Given the description of an element on the screen output the (x, y) to click on. 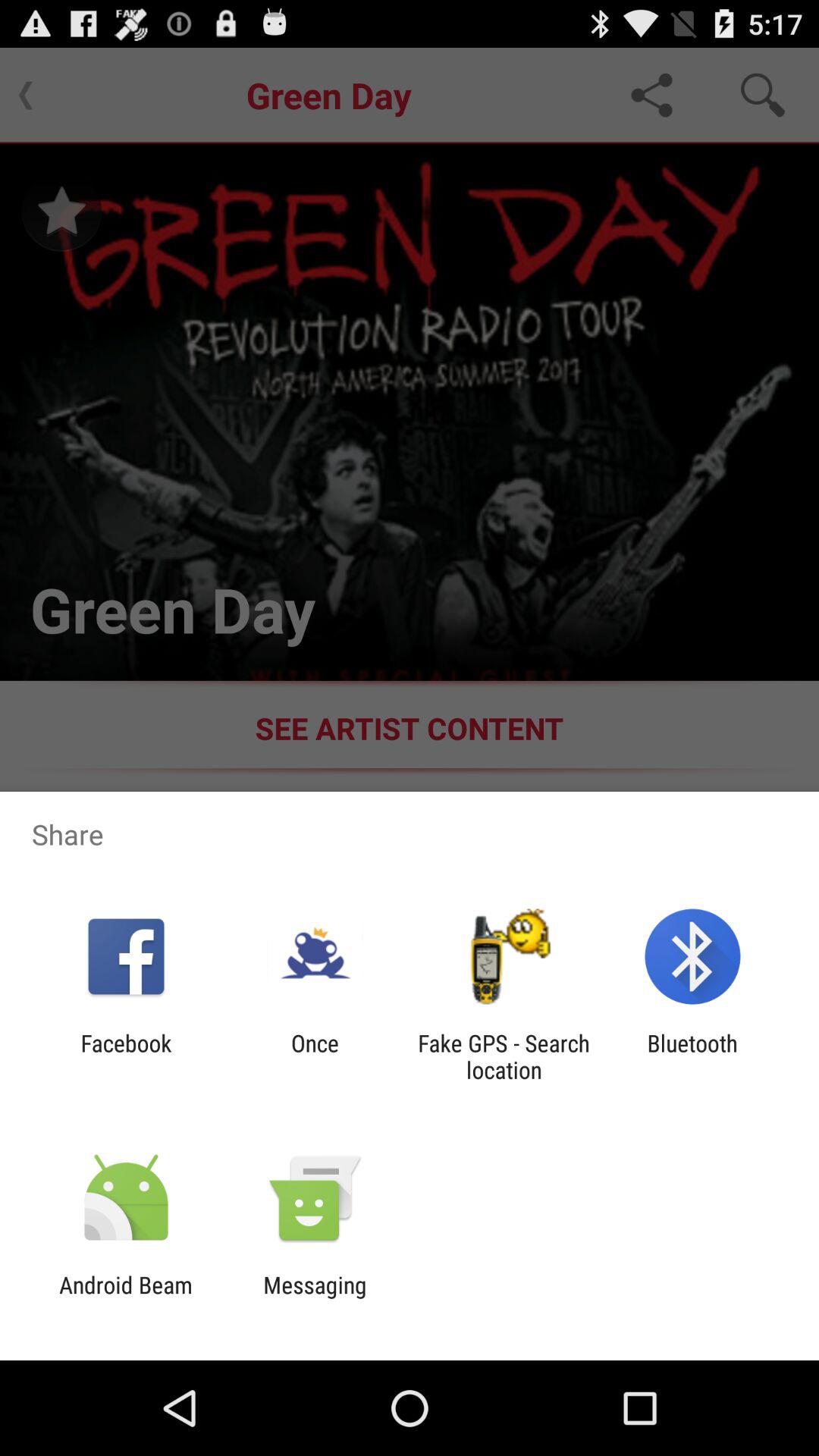
select the item to the left of the bluetooth icon (503, 1056)
